Given the description of an element on the screen output the (x, y) to click on. 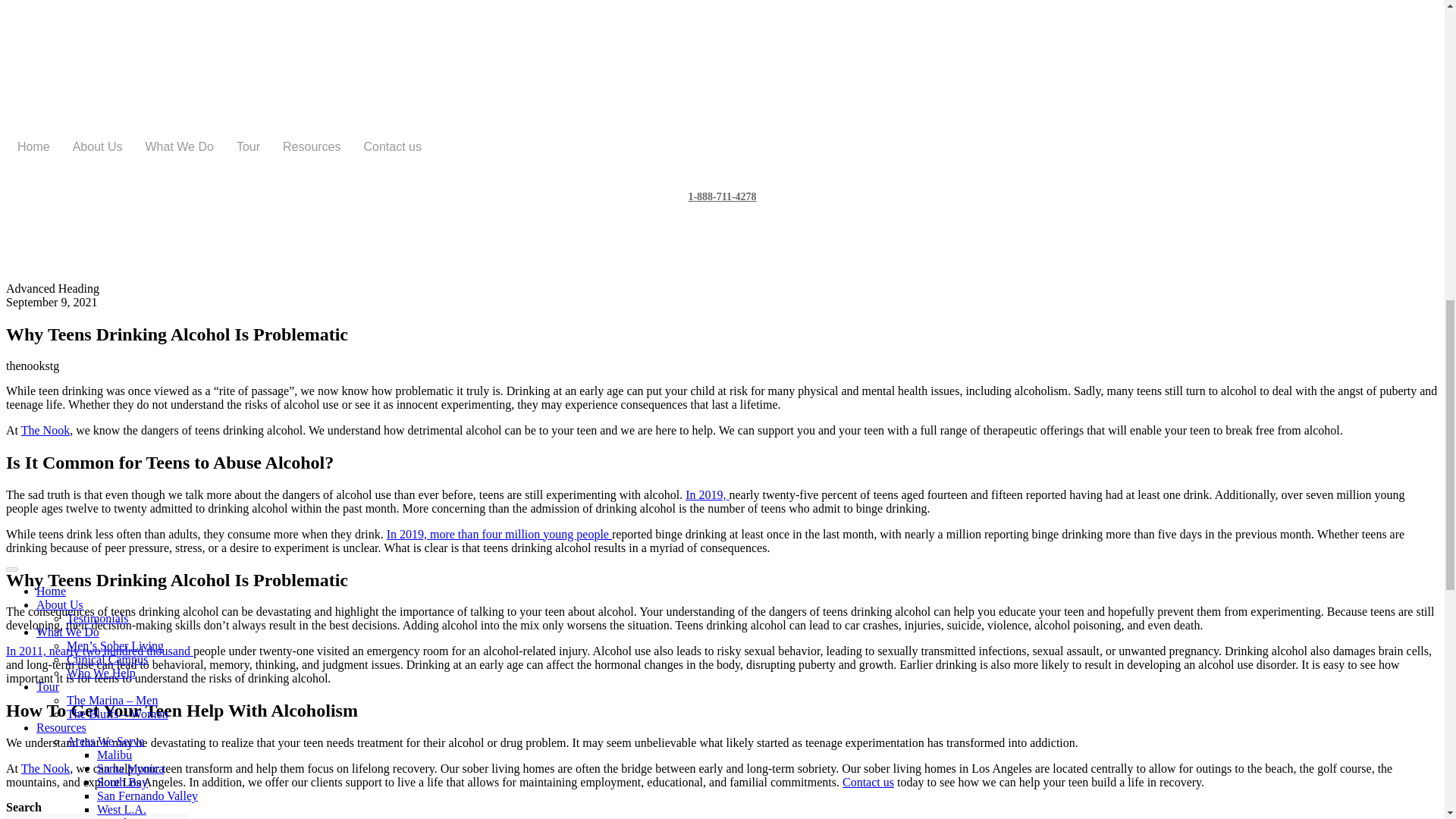
Search (96, 816)
